Given the description of an element on the screen output the (x, y) to click on. 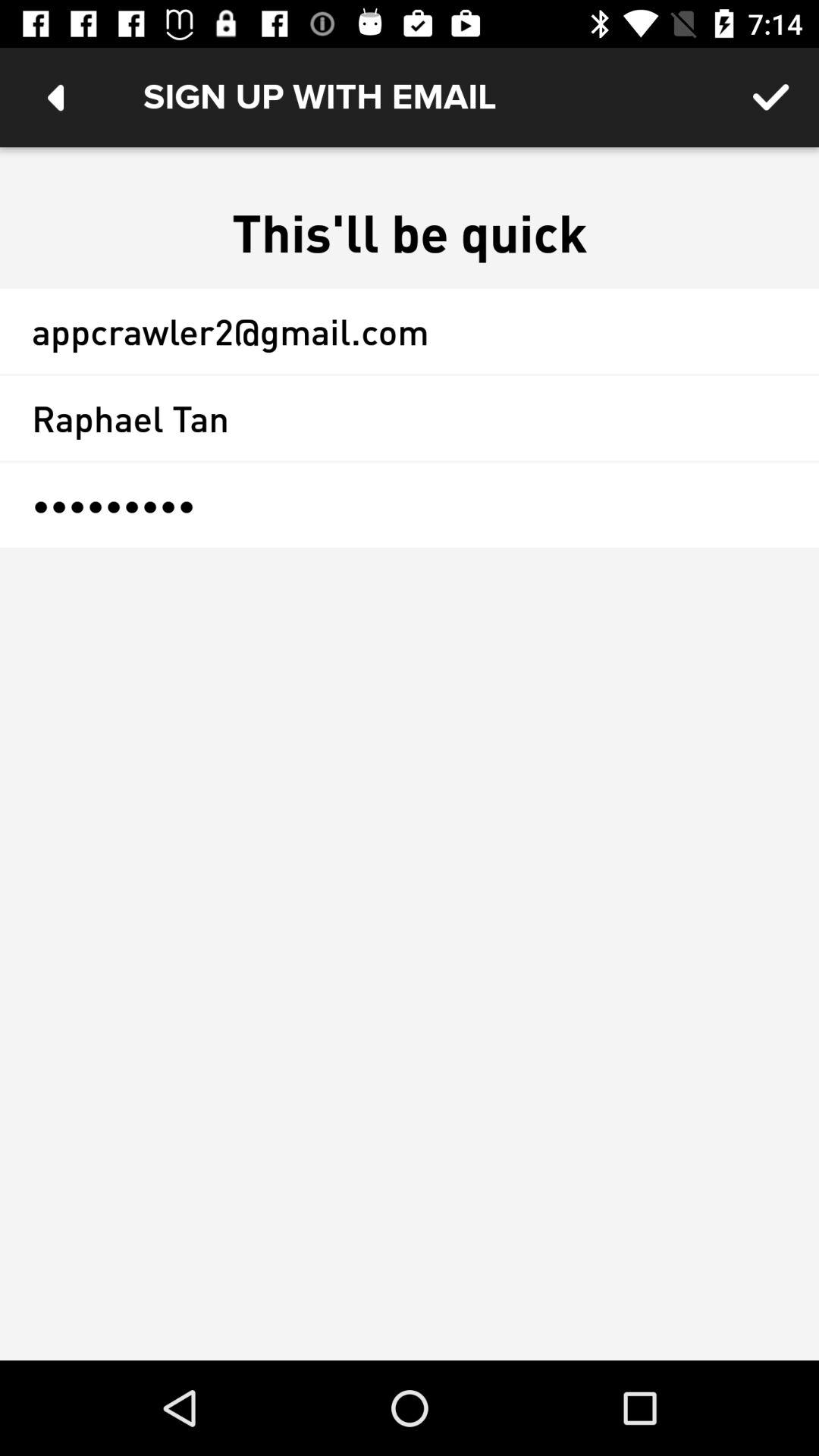
tap appcrawler2@gmail.com (409, 330)
